Given the description of an element on the screen output the (x, y) to click on. 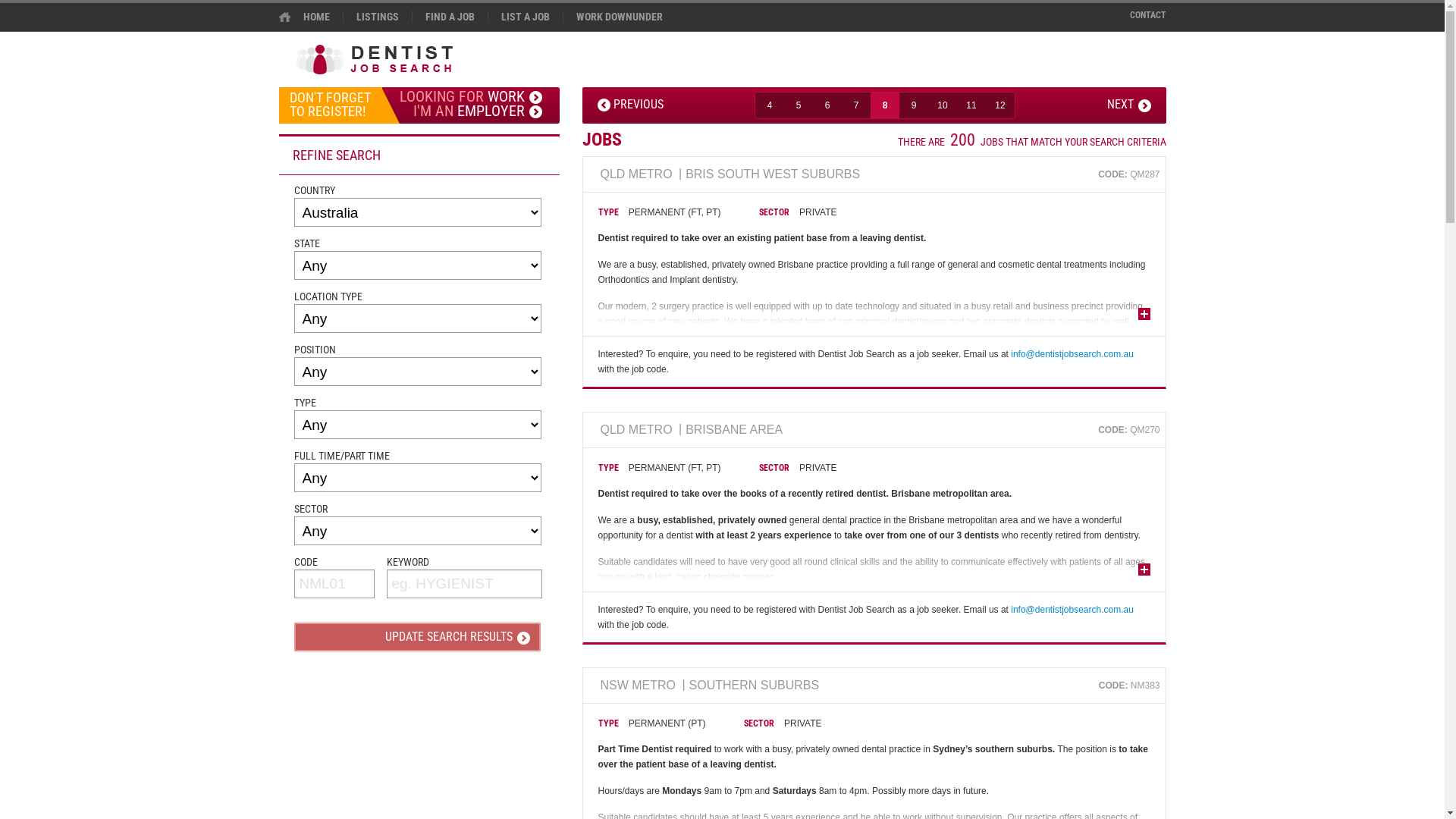
PREVIOUS Element type: text (630, 104)
5 Element type: text (798, 105)
FIND A JOB Element type: text (448, 16)
info@dentistjobsearch.com.au Element type: text (1071, 353)
UPDATE SEARCH RESULTS Element type: text (417, 636)
9 Element type: text (913, 105)
10 Element type: text (942, 105)
LISTINGS Element type: text (376, 16)
LOOKING FOR WORK Element type: text (470, 94)
12 Element type: text (999, 105)
NEXT Element type: text (1129, 104)
6 Element type: text (826, 105)
I'M AN EMPLOYER Element type: text (470, 111)
CONTACT Element type: text (1140, 14)
11 Element type: text (971, 105)
HOME Element type: text (310, 16)
WORK DOWNUNDER Element type: text (618, 16)
LIST A JOB Element type: text (523, 16)
7 Element type: text (855, 105)
info@dentistjobsearch.com.au Element type: text (1071, 609)
4 Element type: text (769, 105)
